Given the description of an element on the screen output the (x, y) to click on. 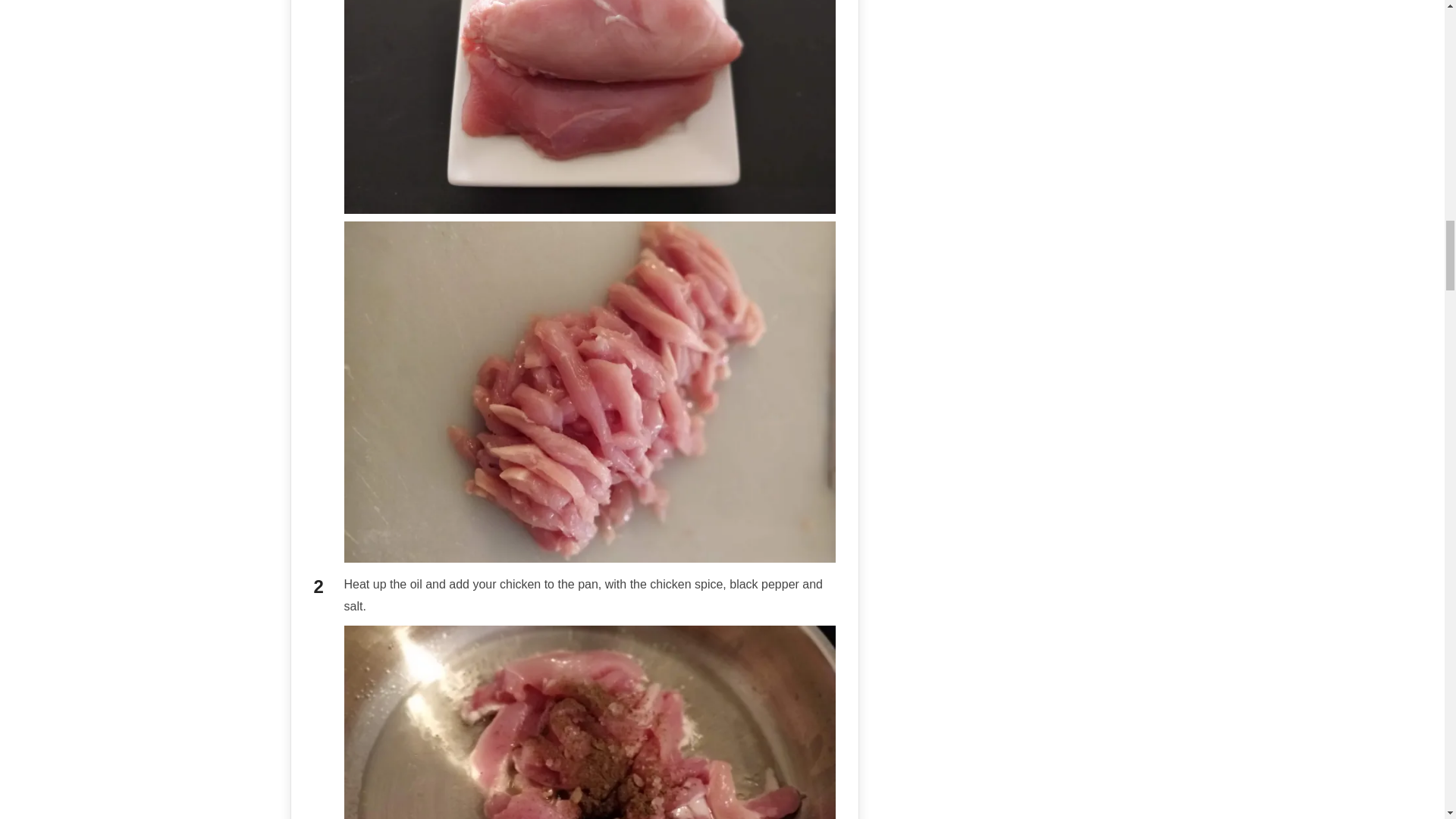
Chicken Stir Fry (589, 722)
Chicken Stir Fry (589, 106)
